Given the description of an element on the screen output the (x, y) to click on. 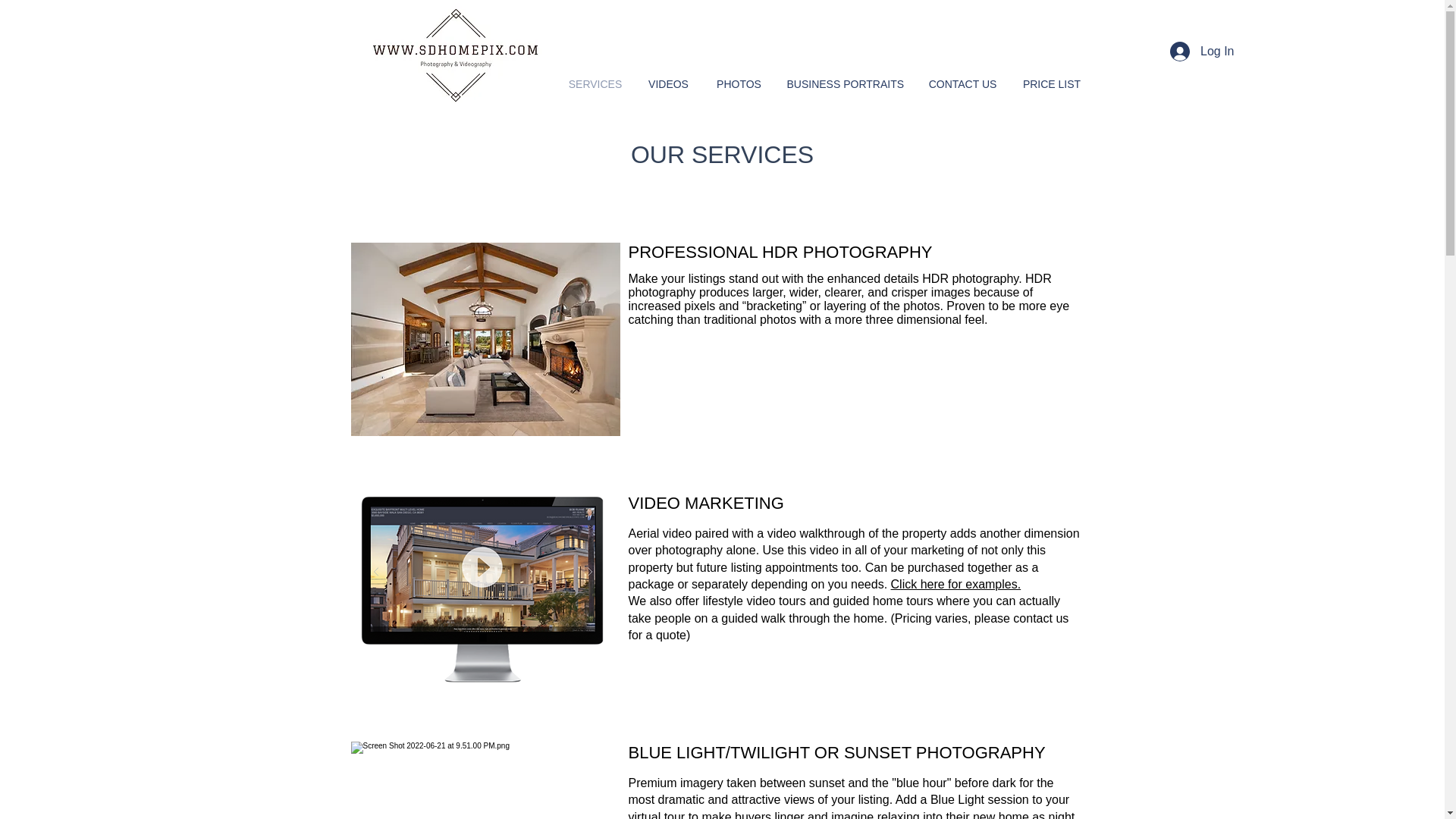
BUSINESS PORTRAITS (844, 84)
CONTACT US (962, 84)
Click here for examples. (956, 584)
VIDEOS (667, 84)
SERVICES (595, 84)
PHOTOS (737, 84)
PRICE LIST (1051, 84)
Log In (1201, 51)
